Given the description of an element on the screen output the (x, y) to click on. 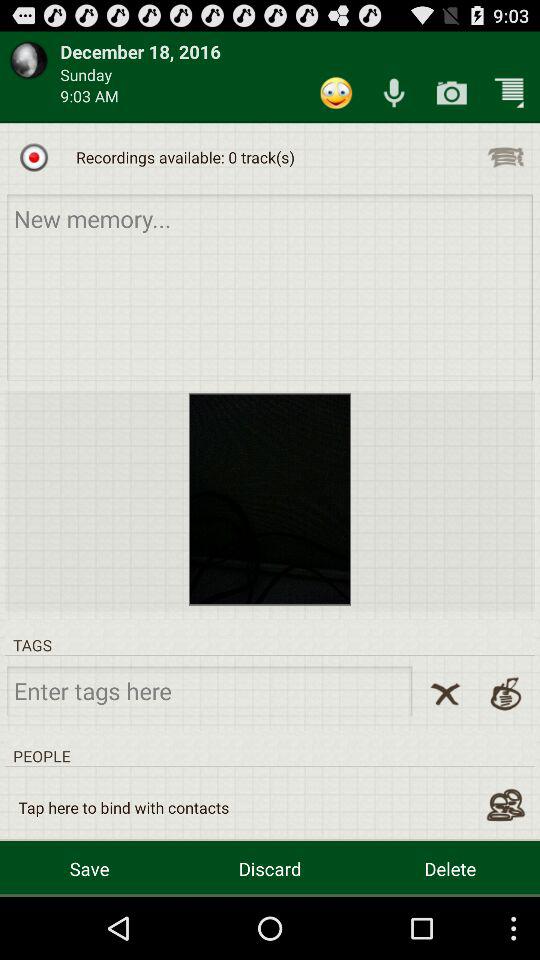
choose app below 9:03 am app (34, 157)
